Given the description of an element on the screen output the (x, y) to click on. 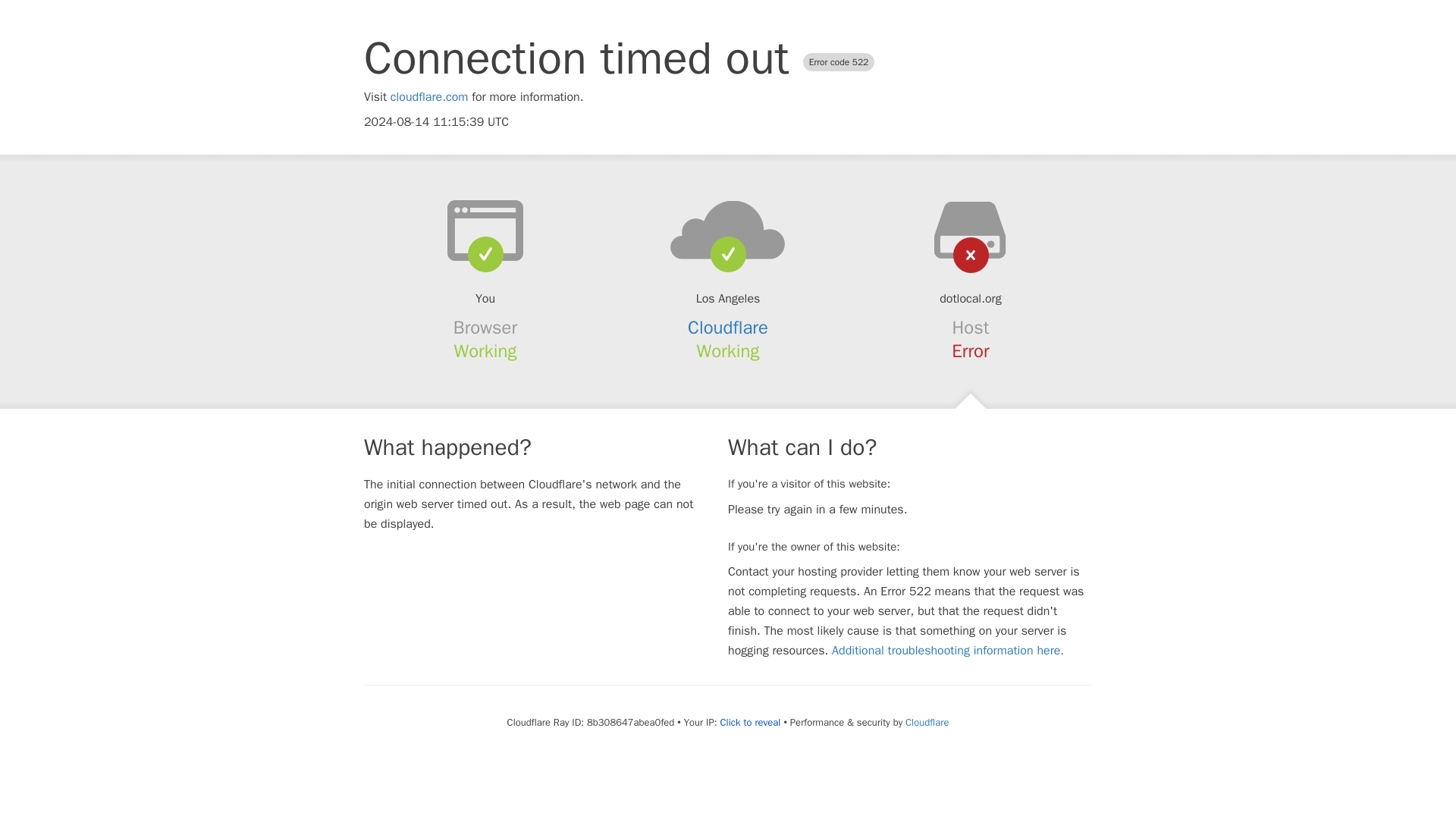
Cloudflare (927, 721)
Click to reveal (750, 722)
Additional troubleshooting information here. (947, 650)
Cloudflare (727, 327)
cloudflare.com (429, 96)
